Given the description of an element on the screen output the (x, y) to click on. 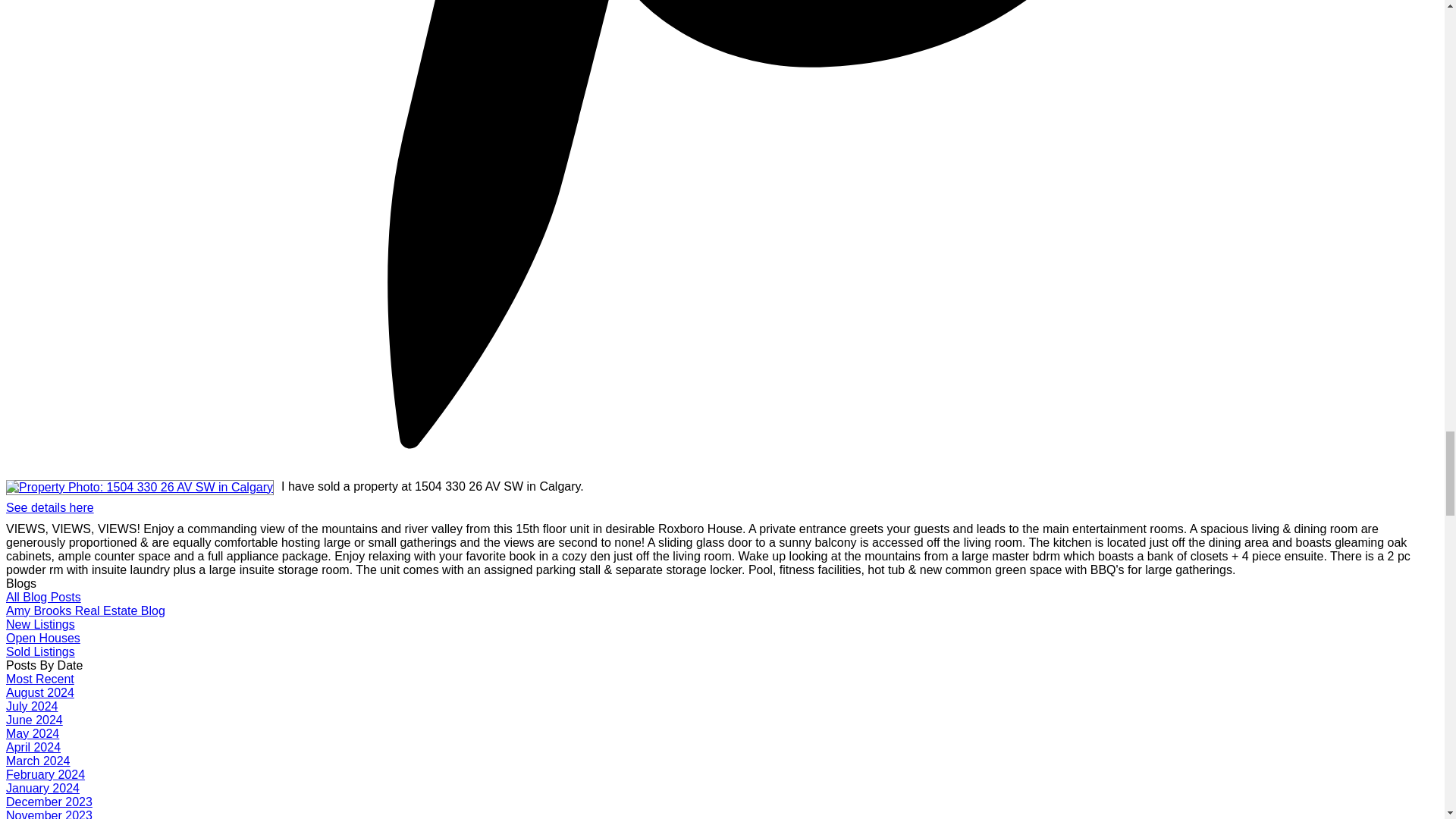
See details here (49, 507)
Most Recent (39, 678)
Sold Listings (40, 651)
December 2023 (49, 801)
March 2024 (37, 760)
November 2023 (49, 814)
January 2024 (42, 788)
New Listings (40, 624)
August 2024 (39, 692)
July 2024 (31, 706)
